Given the description of an element on the screen output the (x, y) to click on. 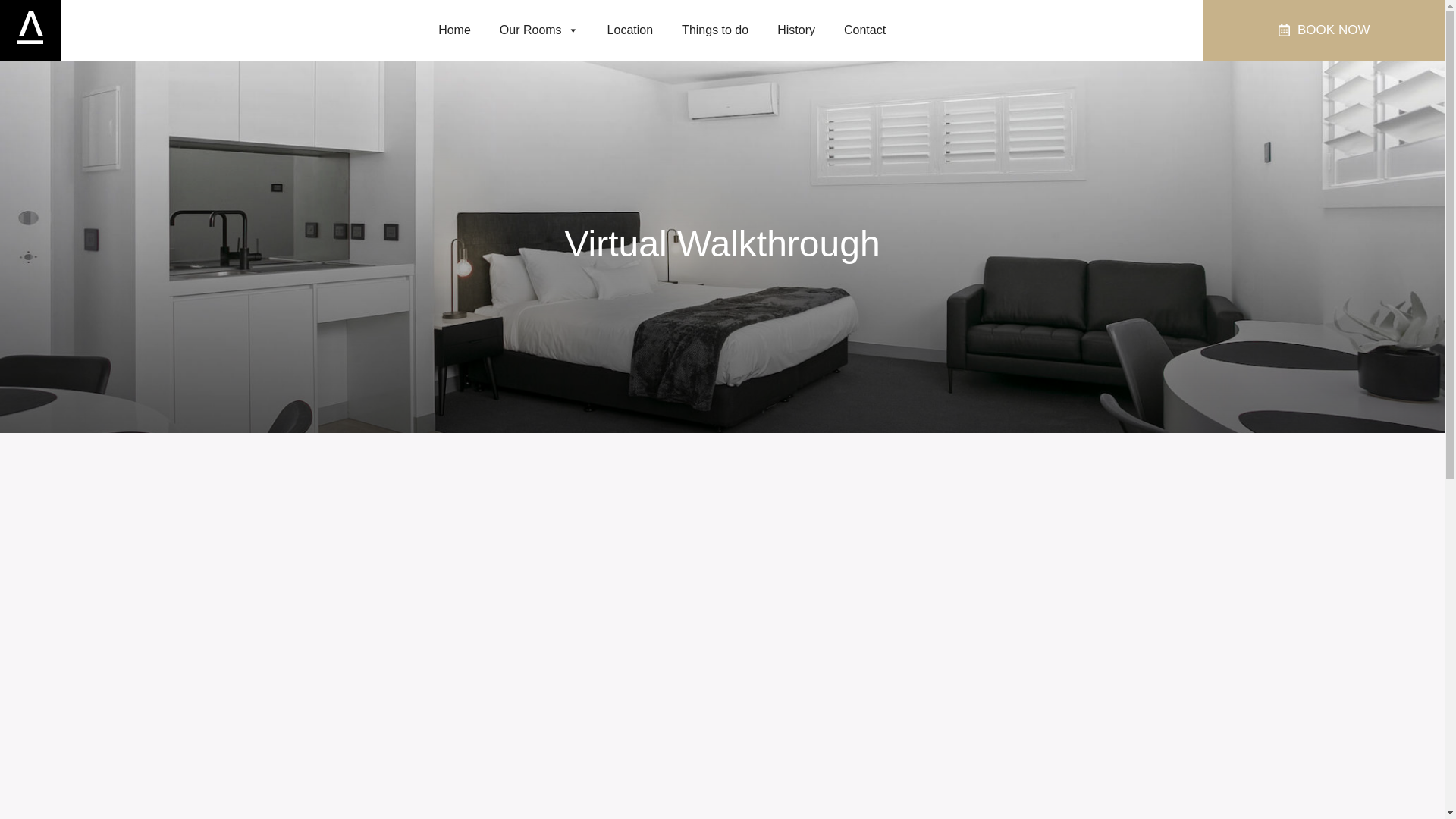
History Element type: text (795, 30)
Contact Element type: text (864, 30)
Things to do Element type: text (714, 30)
Location Element type: text (630, 30)
Home Element type: text (454, 30)
Our Rooms Element type: text (539, 30)
BOOK NOW Element type: text (1323, 30)
